Given the description of an element on the screen output the (x, y) to click on. 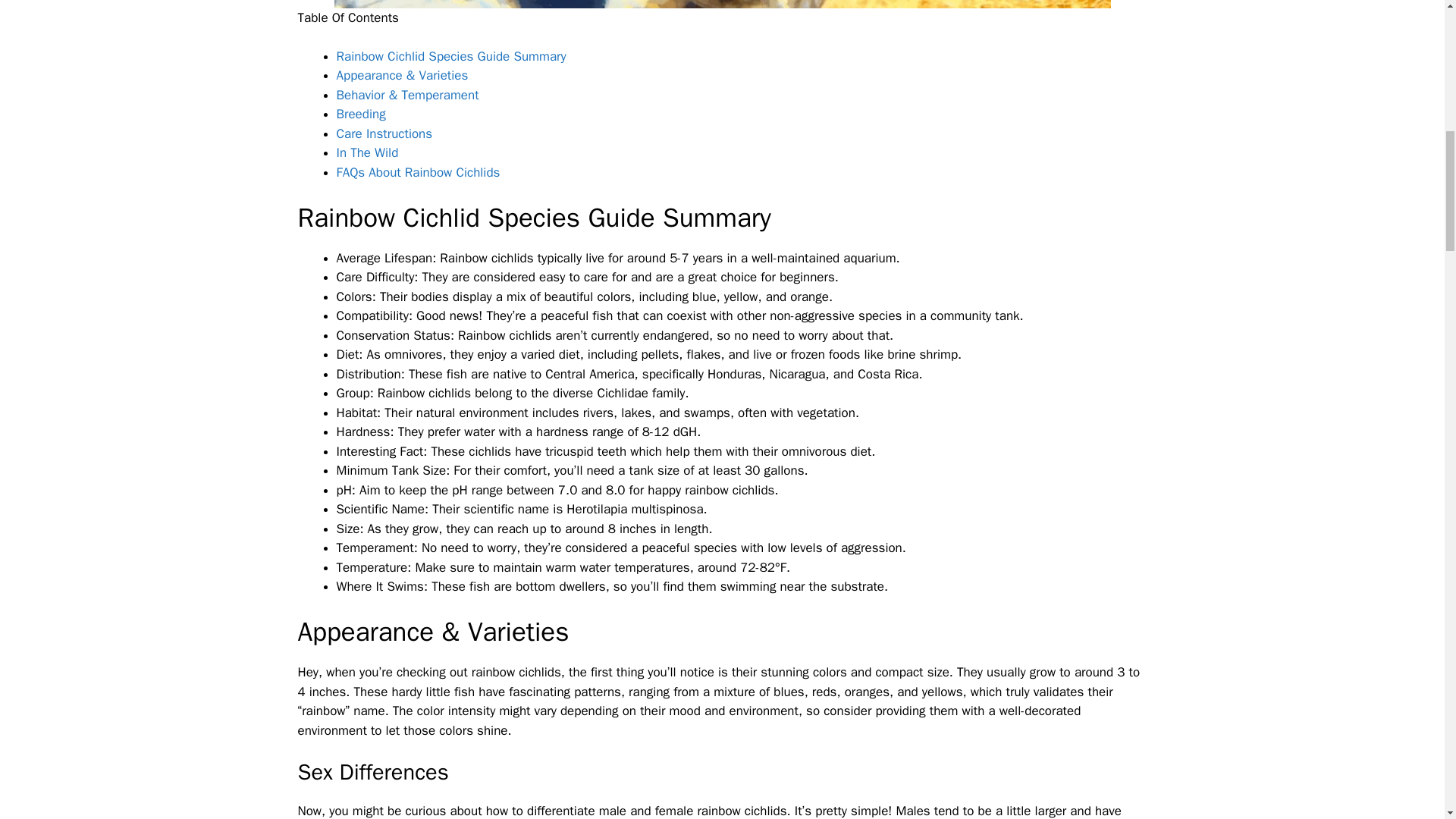
In The Wild (367, 152)
Breeding (360, 114)
Care Instructions (384, 133)
FAQs About Rainbow Cichlids (418, 172)
Rainbow Cichlid Species Guide Summary (451, 56)
